Given the description of an element on the screen output the (x, y) to click on. 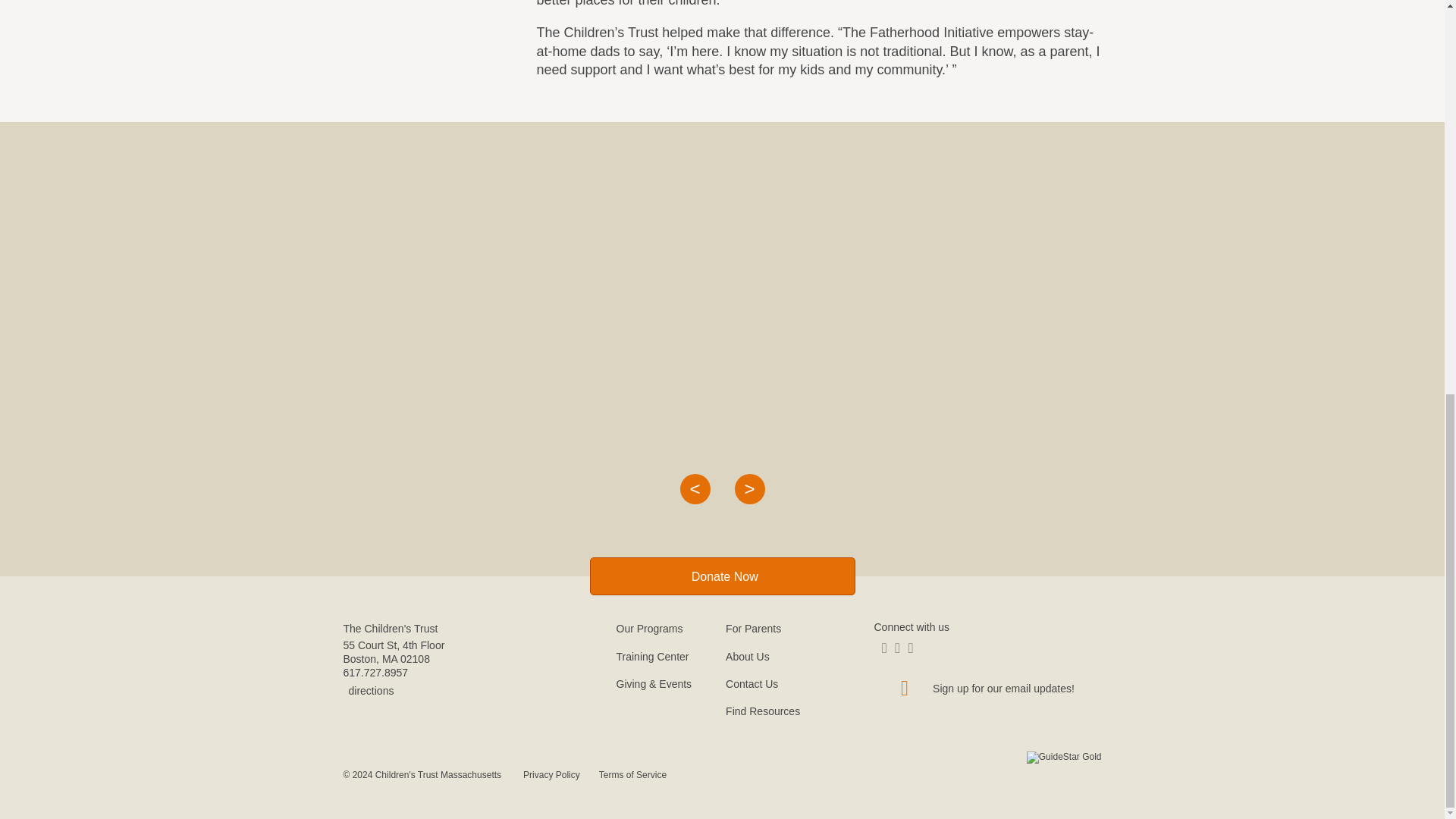
Sign up for our email updates! (987, 687)
Directions to Children's Trust Massachusetts (367, 690)
Massachusetts (389, 658)
